Given the description of an element on the screen output the (x, y) to click on. 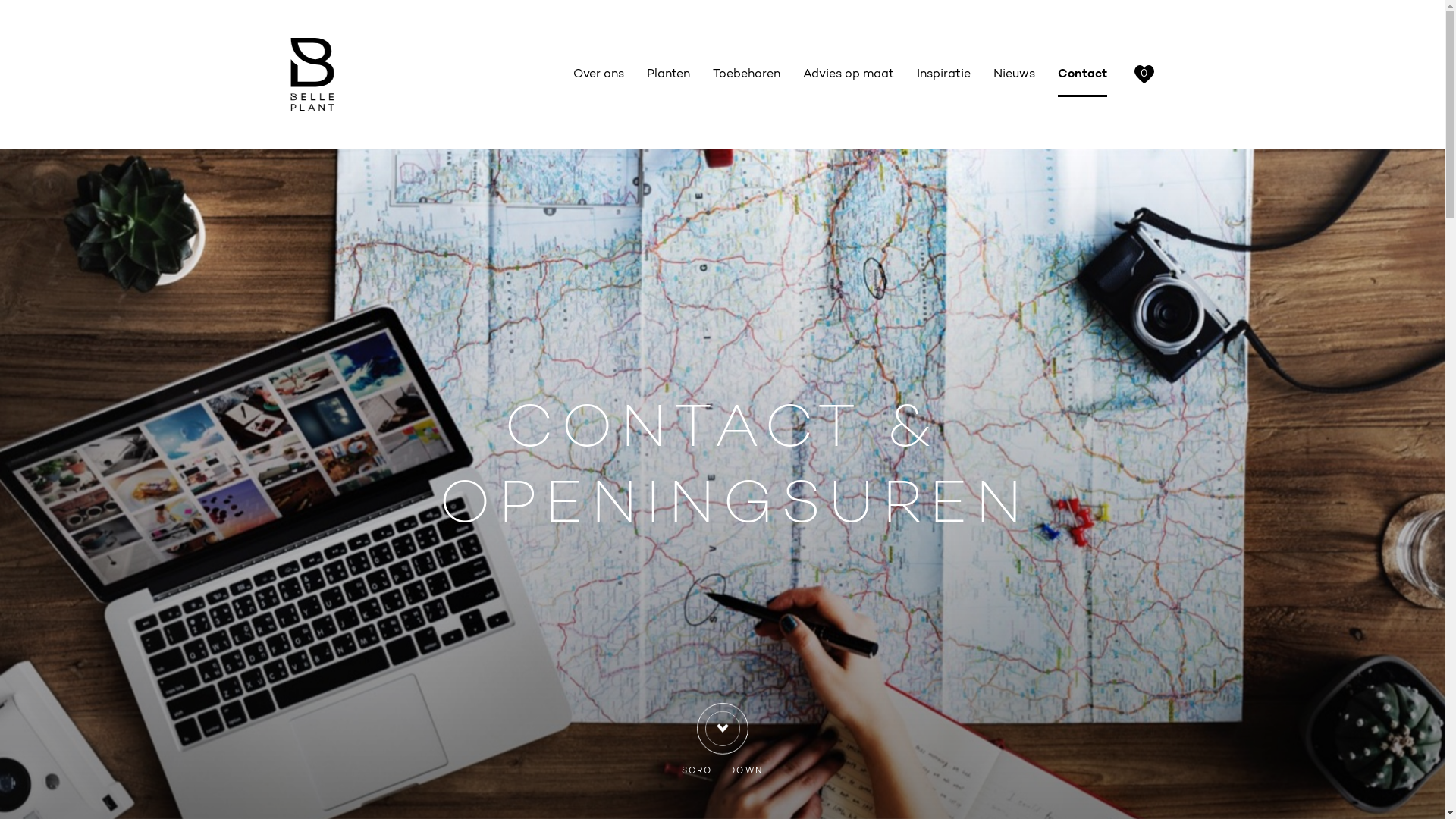
Advies op maat Element type: text (848, 74)
SCROLL DOWN Element type: text (722, 737)
Inspiratie Element type: text (943, 74)
Over ons Element type: text (597, 74)
Contact Element type: text (1082, 74)
0 Element type: text (1144, 74)
Nieuws Element type: text (1013, 74)
Planten Element type: text (668, 74)
Toebehoren Element type: text (745, 74)
